Given the description of an element on the screen output the (x, y) to click on. 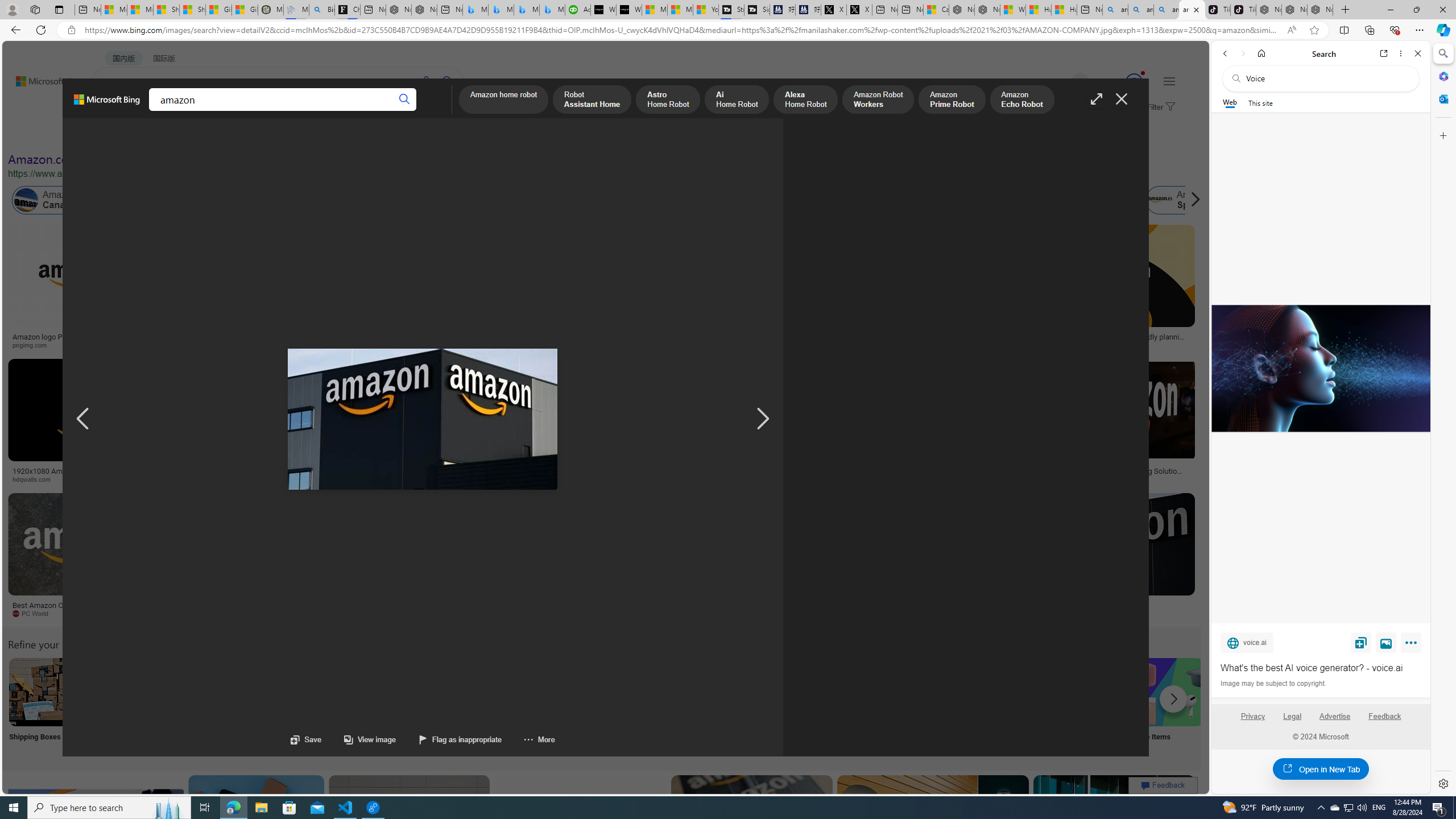
Image size (127, 135)
vecteezy.com (938, 479)
Amazon Jobs Near Me Jobs Near Me (342, 706)
View image (1385, 642)
hdqwalls.com (35, 479)
Read aloud this page (Ctrl+Shift+U) (1291, 29)
Image may be subject to copyright. (1273, 682)
Log into My Account (268, 706)
Privacy (1252, 720)
PC World (83, 613)
Amazon Mini TV Mini TV (794, 706)
